Given the description of an element on the screen output the (x, y) to click on. 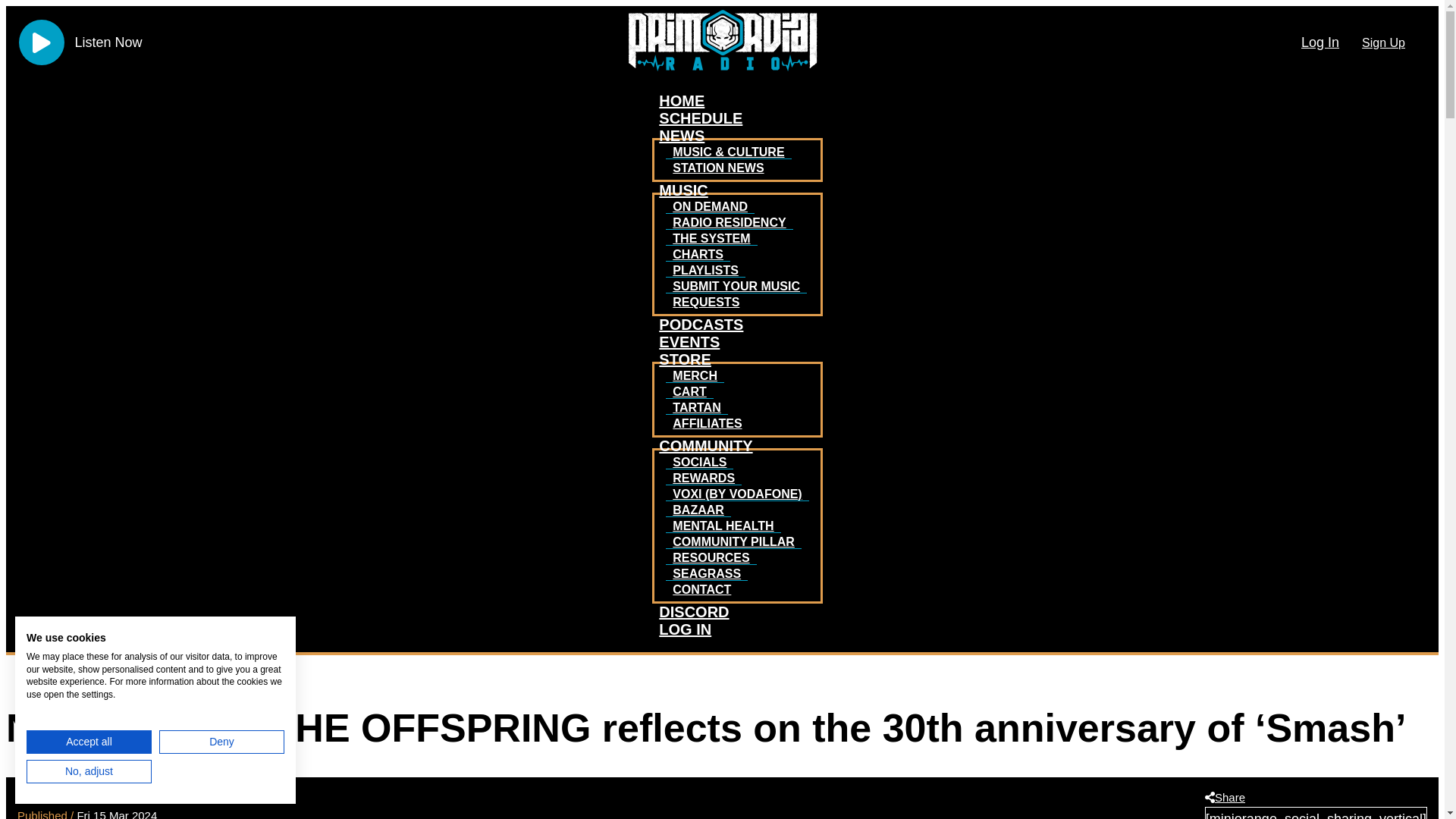
Log In (1320, 42)
Sign Up (1382, 42)
HOME (681, 100)
